Given the description of an element on the screen output the (x, y) to click on. 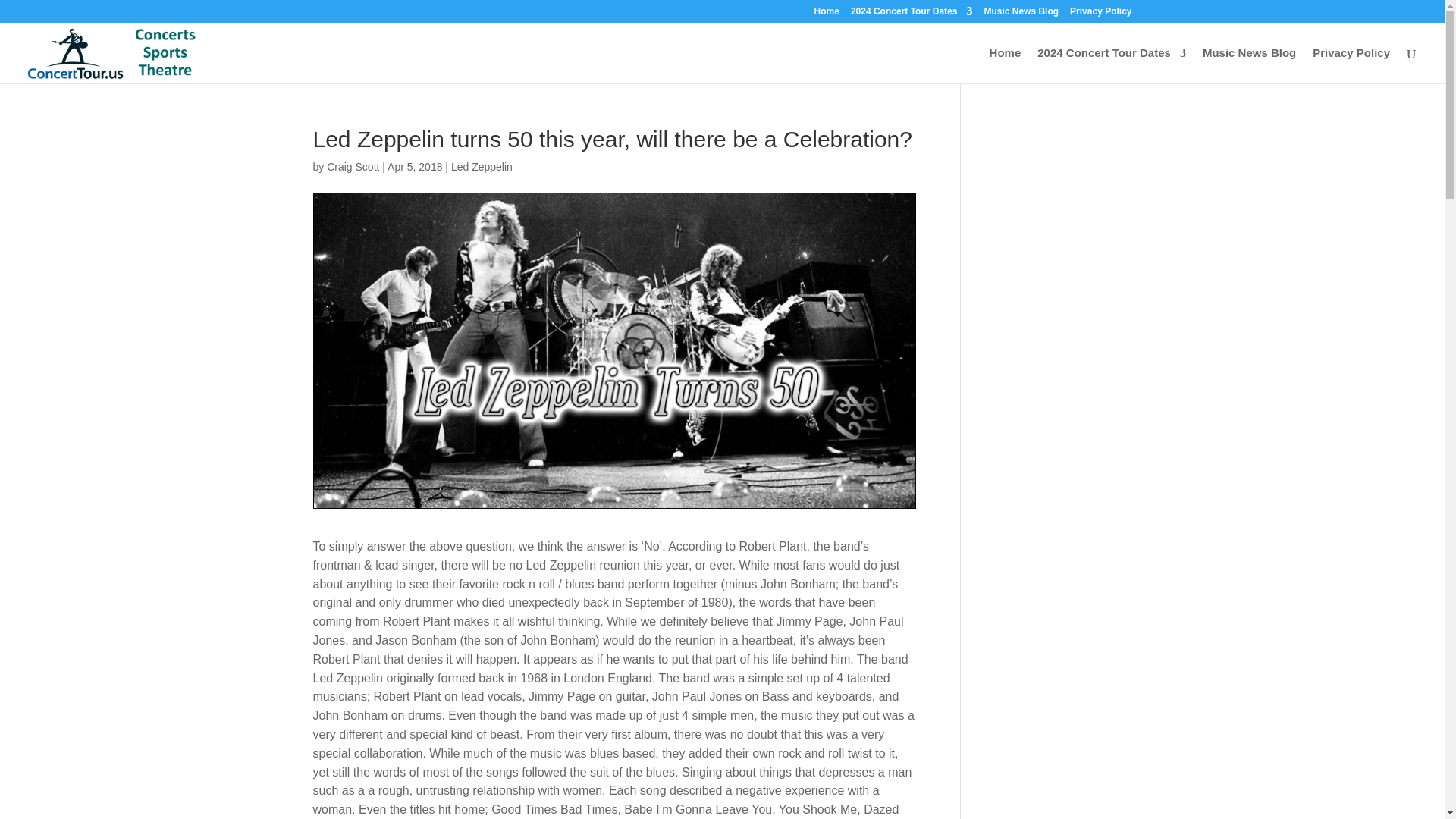
Home (826, 14)
Posts by Craig Scott (352, 166)
2024 Concert Tour Dates (911, 14)
